Given the description of an element on the screen output the (x, y) to click on. 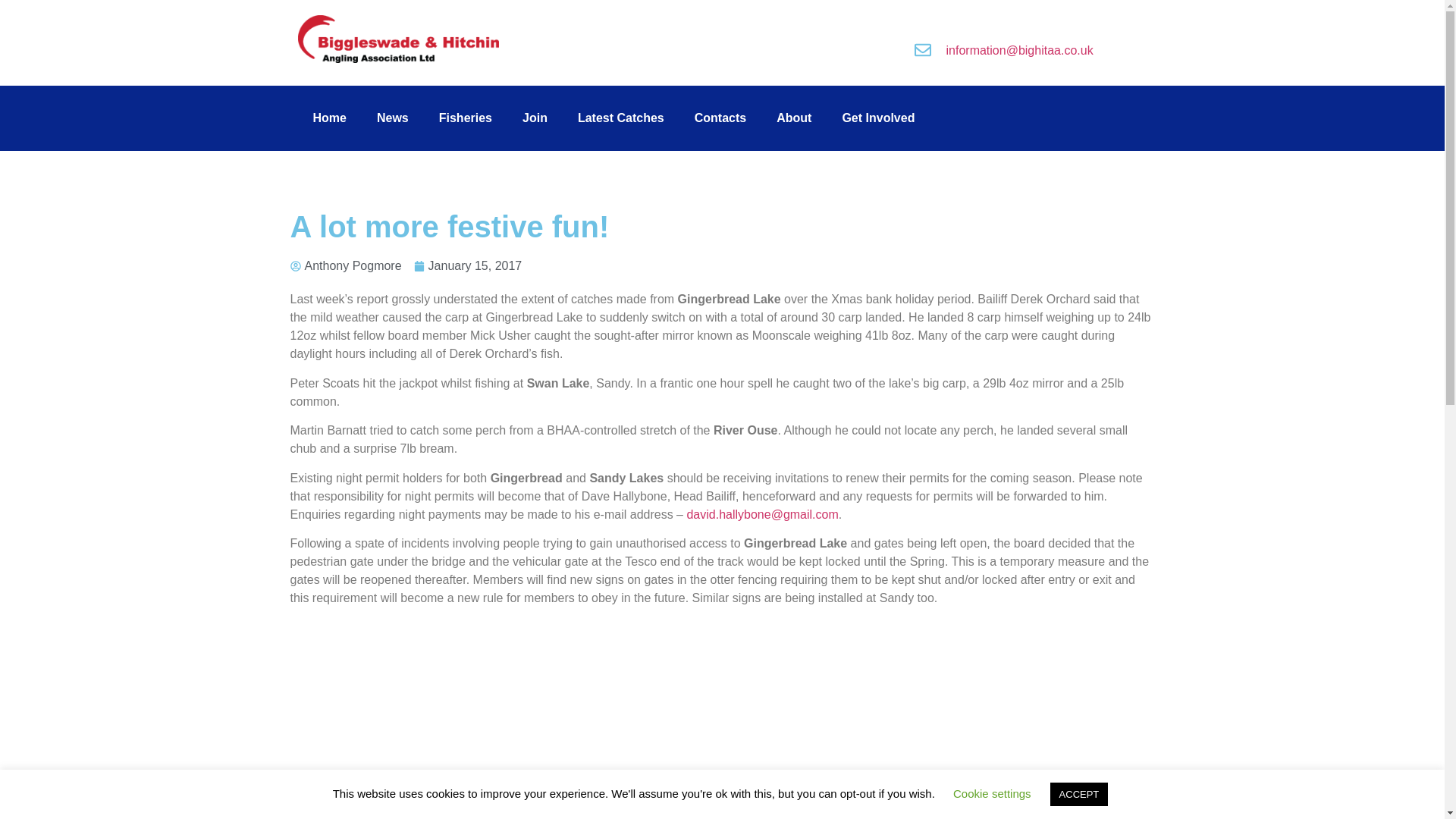
Contacts (720, 117)
Latest Catches (620, 117)
January 15, 2017 (467, 266)
Fisheries (464, 117)
ACCEPT (1078, 793)
About (794, 117)
Home (329, 117)
Get Involved (878, 117)
News (392, 117)
Join (534, 117)
